Given the description of an element on the screen output the (x, y) to click on. 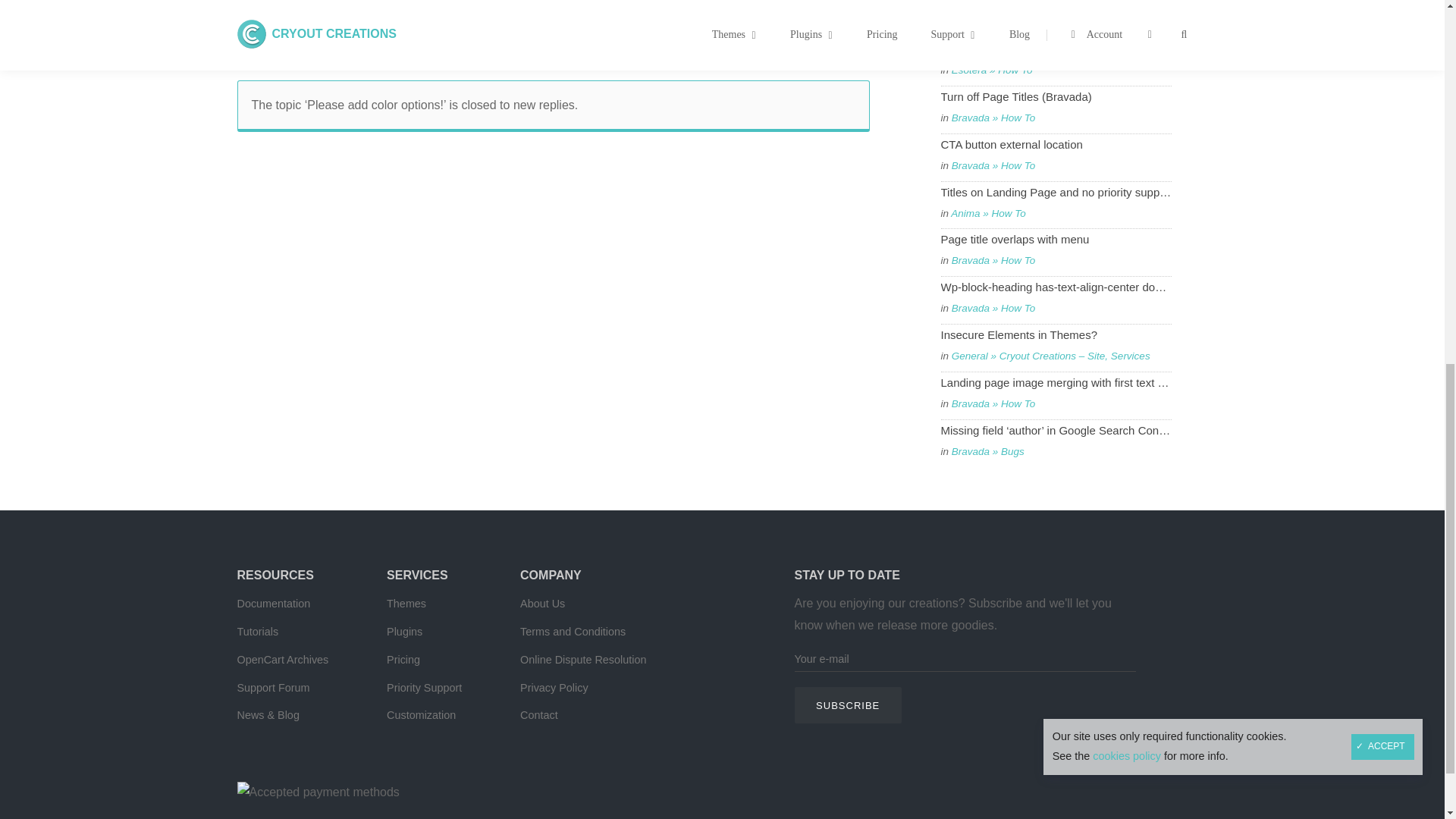
Accepted payment methods (316, 792)
Accept cookies and dismiss this notification (1382, 41)
